Given the description of an element on the screen output the (x, y) to click on. 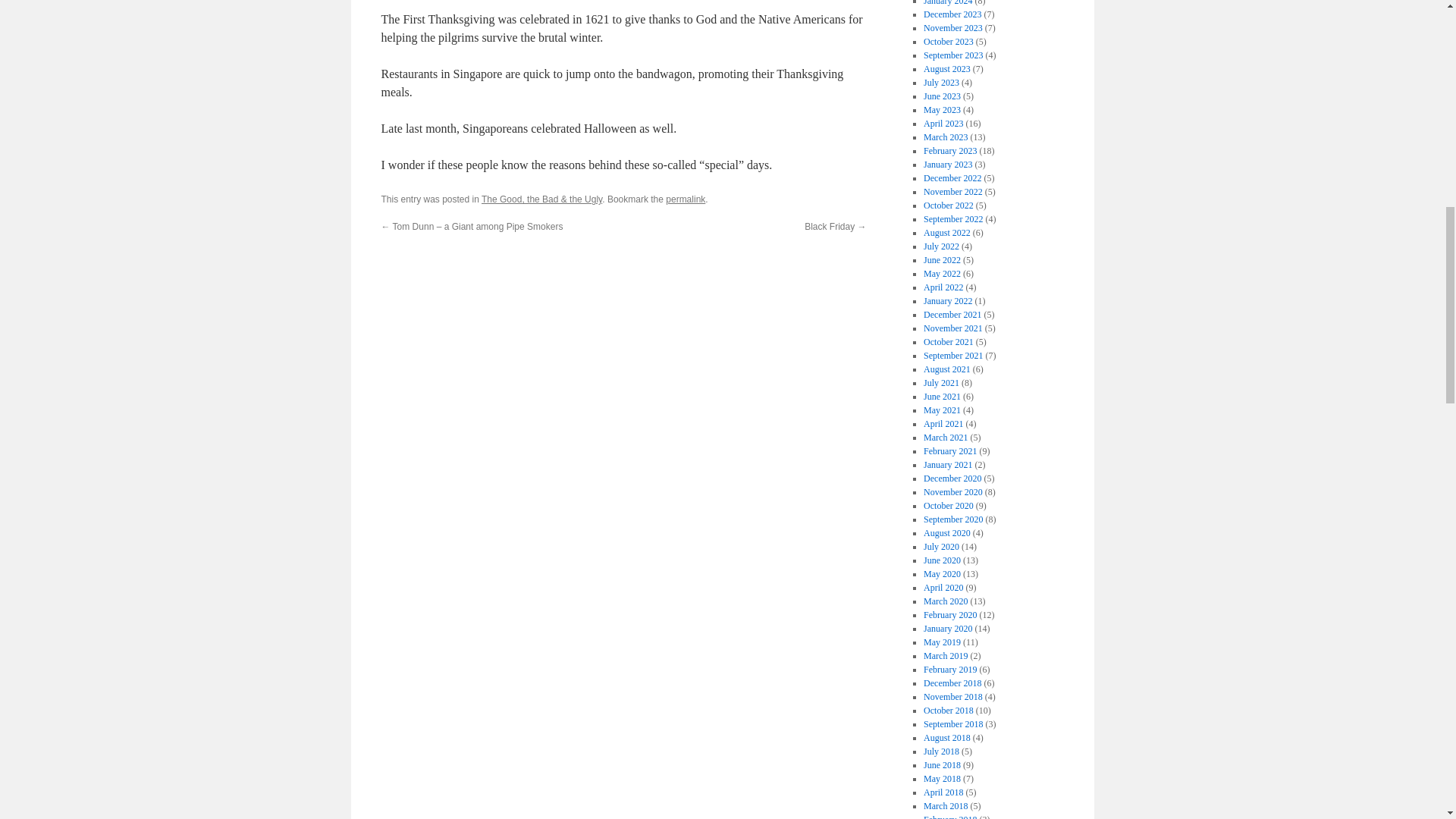
permalink (684, 199)
December 2023 (952, 14)
January 2024 (947, 2)
Permalink to Following Blindly (684, 199)
